Given the description of an element on the screen output the (x, y) to click on. 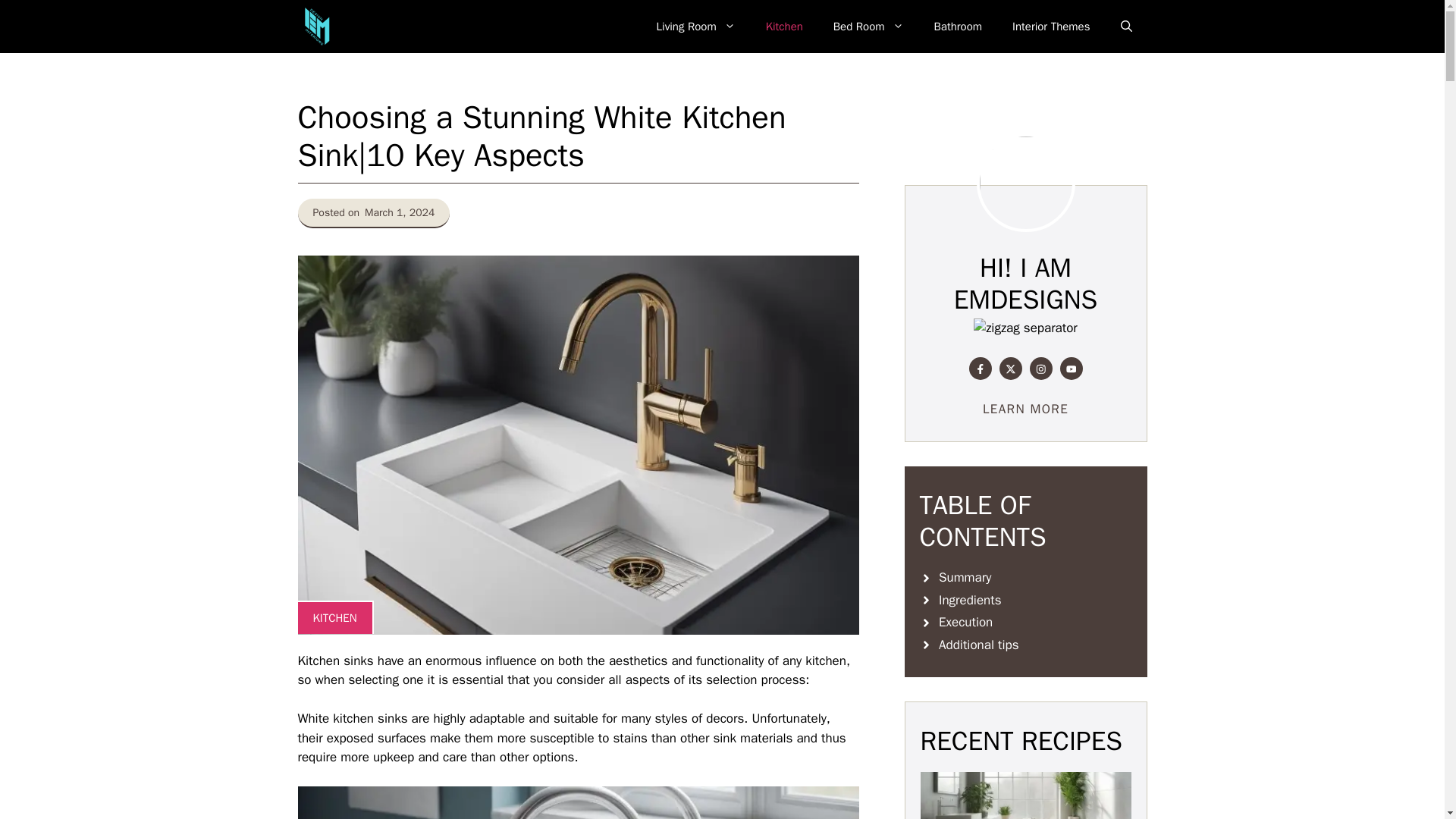
Ingredients (1024, 600)
Execution (1024, 622)
KITCHEN (334, 617)
Kitchen (784, 26)
Bed Room (868, 26)
Bathroom (957, 26)
Living Room (696, 26)
Summary (1024, 578)
Interior Themes (1051, 26)
Additional tips (1024, 645)
